Given the description of an element on the screen output the (x, y) to click on. 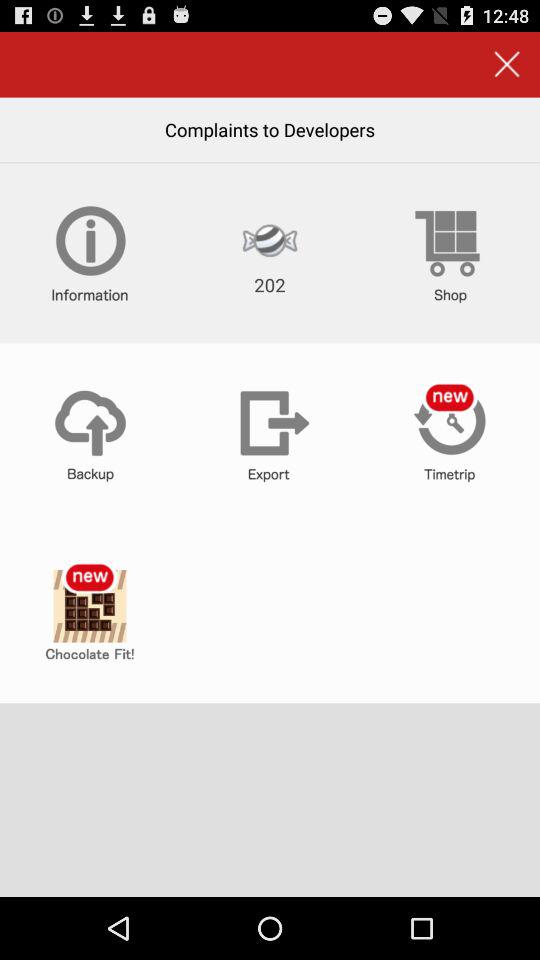
shop (450, 253)
